Given the description of an element on the screen output the (x, y) to click on. 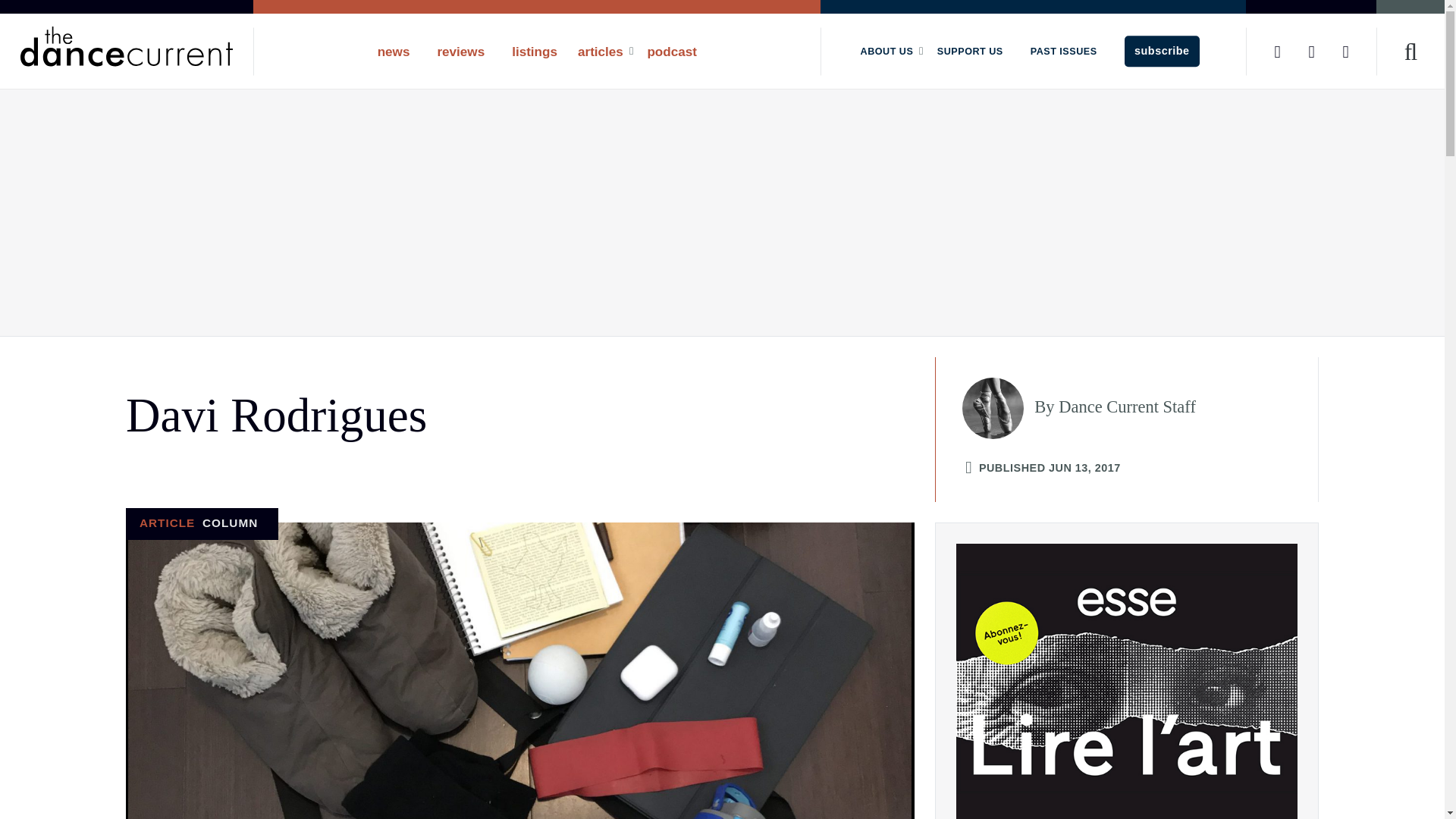
By Dance Current Staff (1140, 407)
The Dance Current (126, 50)
COLUMN (229, 522)
ARTICLE (167, 522)
ABOUT US (888, 51)
articles (601, 51)
listings (533, 51)
subscribe (1161, 51)
reviews (460, 51)
podcast (671, 51)
news (393, 51)
The Dance Current (126, 46)
SUPPORT US (969, 51)
PAST ISSUES (1063, 51)
